Given the description of an element on the screen output the (x, y) to click on. 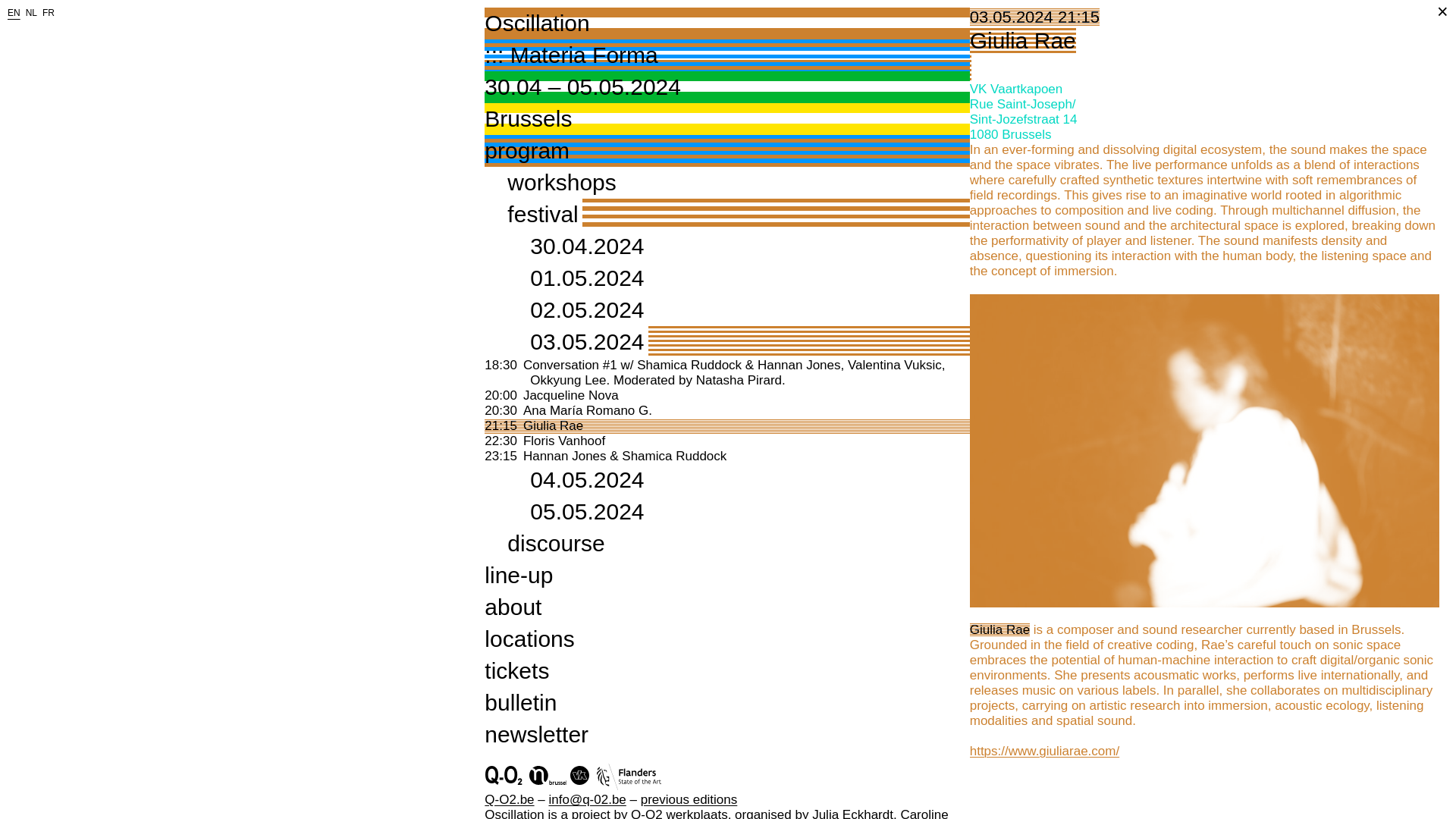
Giulia Rae (552, 425)
NL (31, 12)
FR (48, 12)
EN (13, 12)
Jacqueline Nova (570, 395)
Floris Vanhoof (563, 440)
discourse (726, 39)
